Given the description of an element on the screen output the (x, y) to click on. 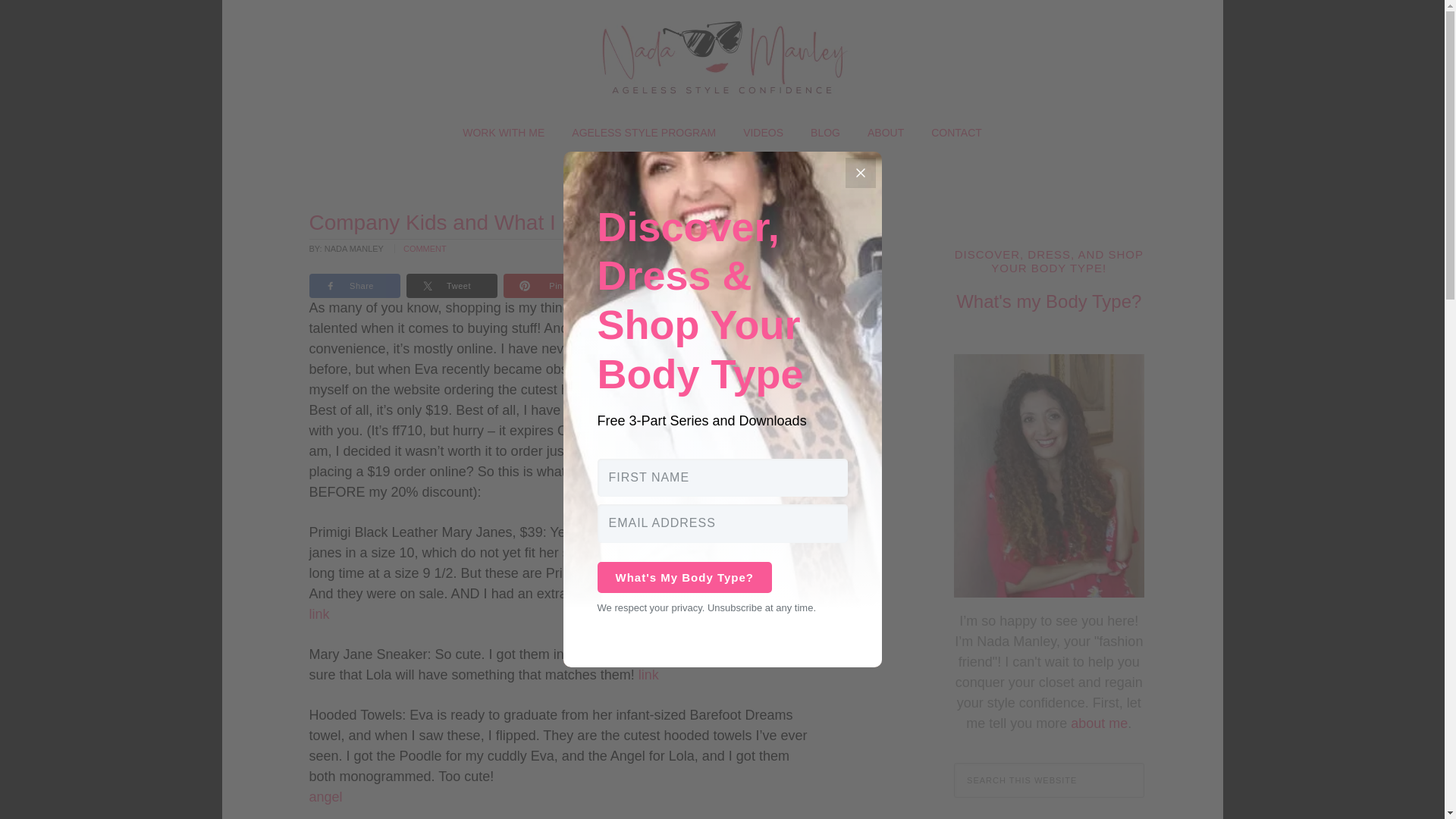
WORK WITH ME (502, 132)
about me (1098, 723)
angel (325, 795)
BLOG (824, 132)
LOGIN (722, 170)
What's my Body Type? (1048, 301)
COMMENT (424, 248)
CONTACT (956, 132)
ABOUT (885, 132)
Nada Manley - Fun with Fashion Over 40 (721, 56)
link (319, 613)
VIDEOS (762, 132)
